Given the description of an element on the screen output the (x, y) to click on. 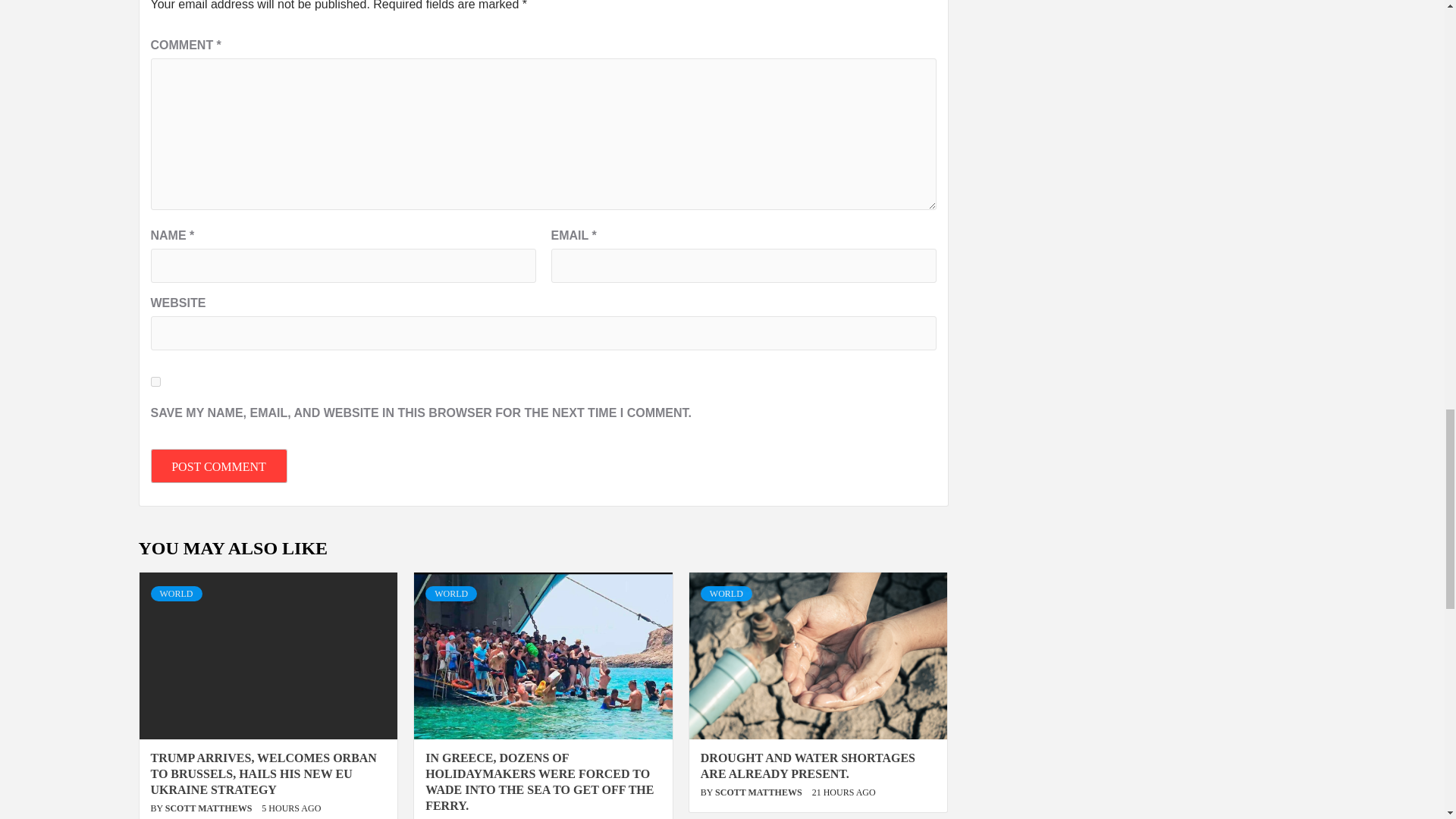
WORLD (451, 593)
SCOTT MATTHEWS (759, 792)
WORLD (726, 593)
Post Comment (217, 465)
DROUGHT AND WATER SHORTAGES ARE ALREADY PRESENT. (807, 765)
SCOTT MATTHEWS (209, 808)
yes (154, 381)
WORLD (175, 593)
Post Comment (217, 465)
